Given the description of an element on the screen output the (x, y) to click on. 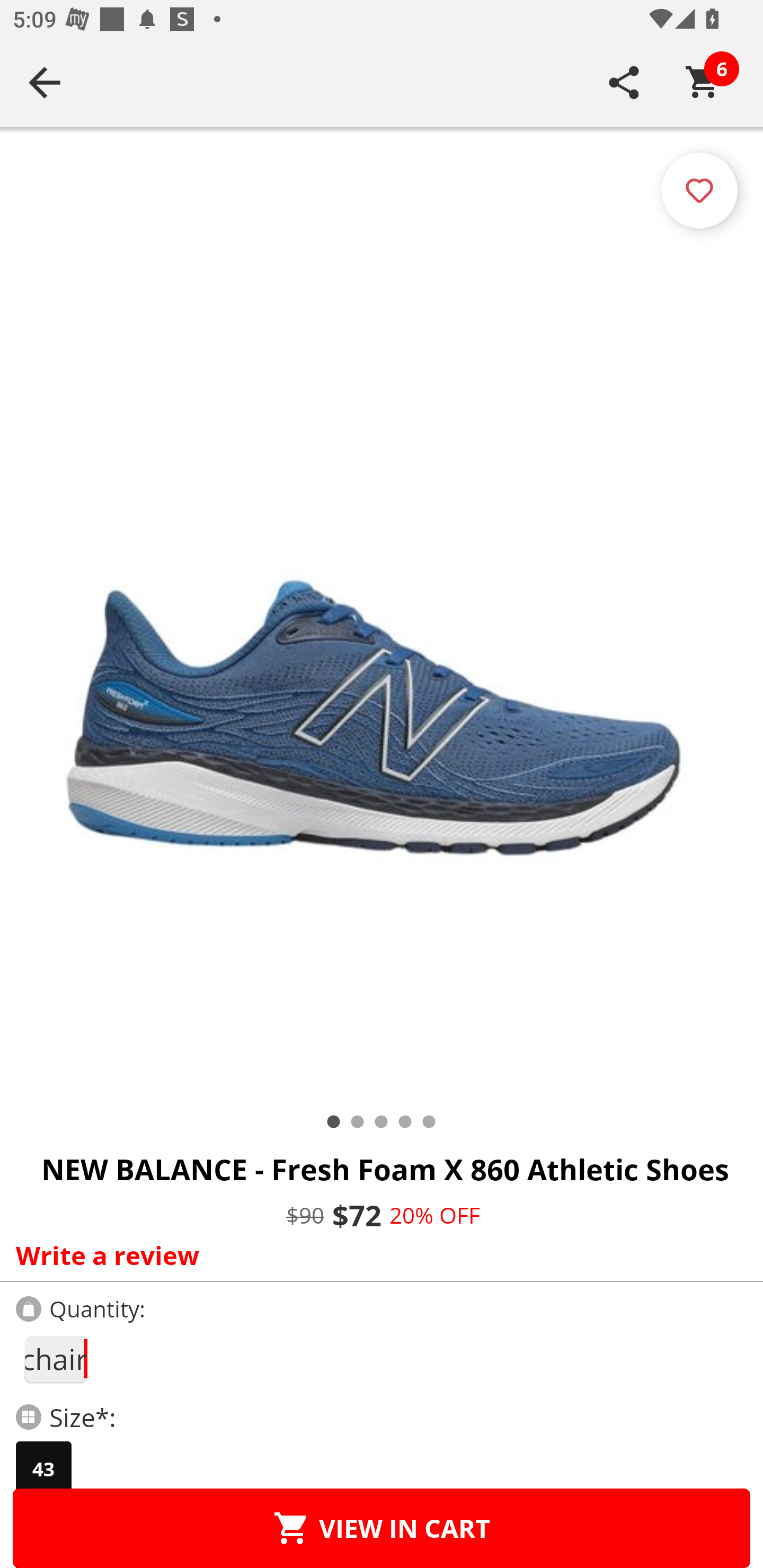
Navigate up (44, 82)
SHARE (623, 82)
Cart (703, 81)
Write a review (377, 1255)
1armchair (55, 1358)
43 (43, 1468)
VIEW IN CART (381, 1528)
